Given the description of an element on the screen output the (x, y) to click on. 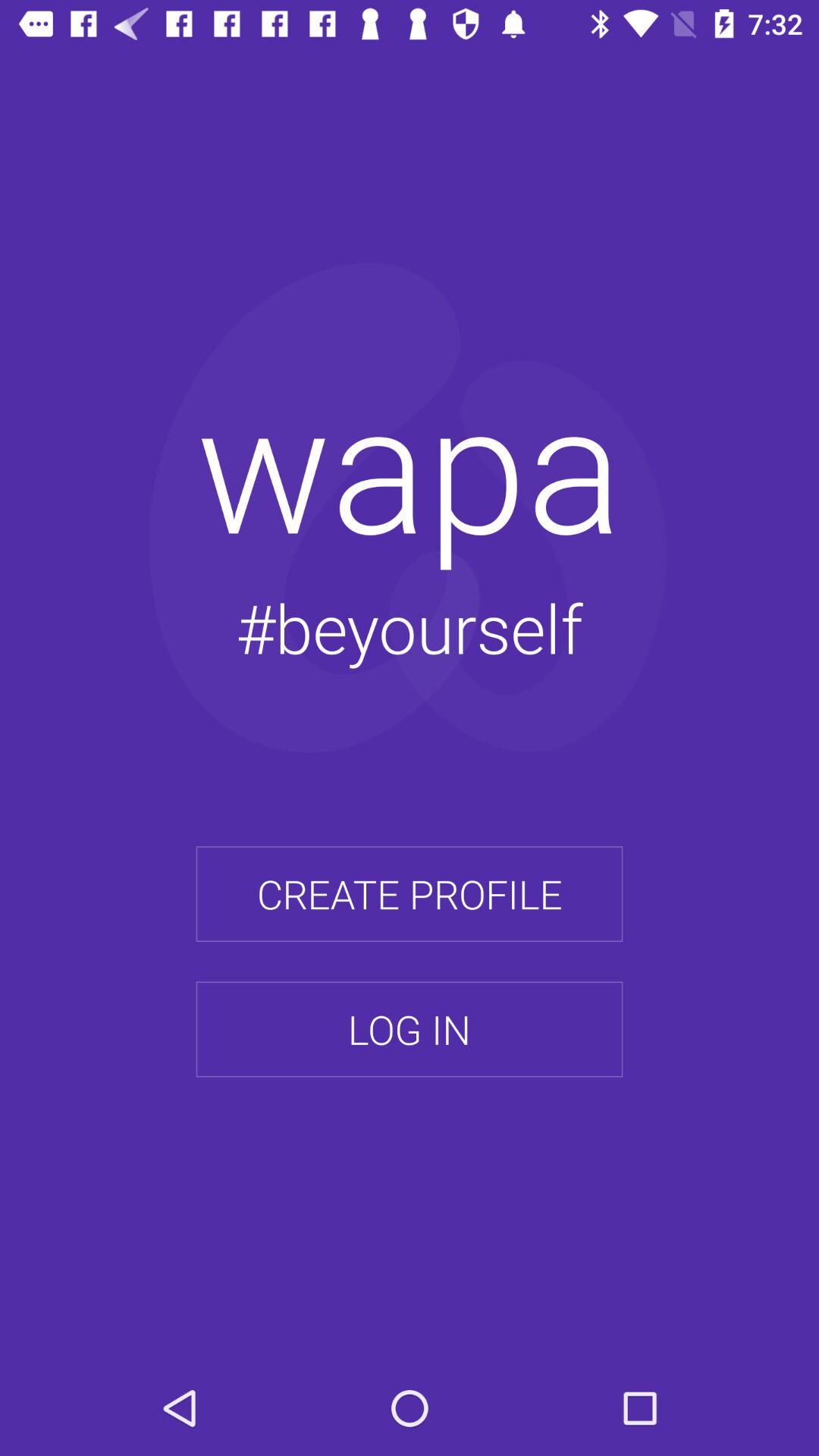
click the create profile icon (409, 893)
